Given the description of an element on the screen output the (x, y) to click on. 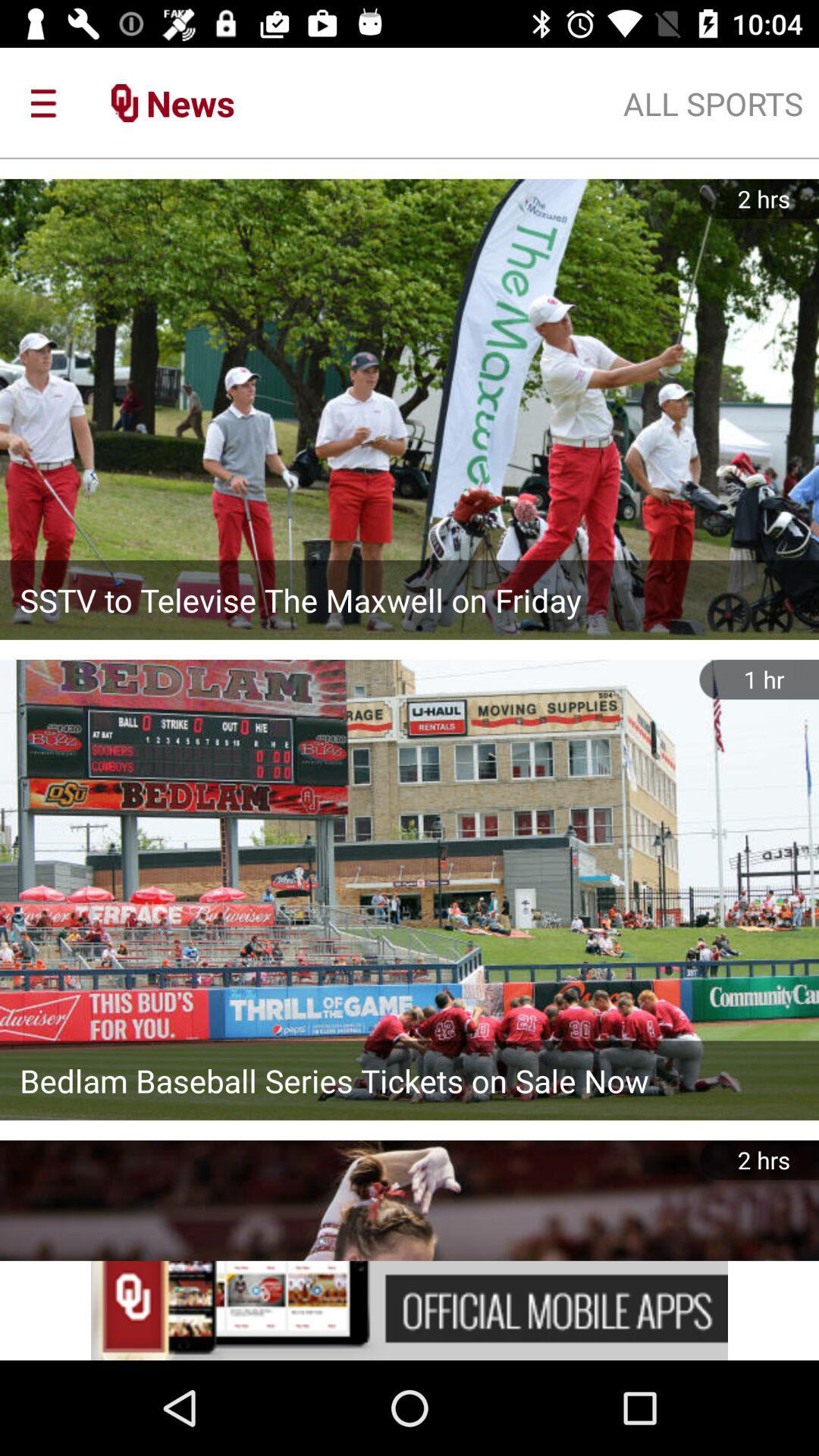
advertising area (409, 1310)
